Given the description of an element on the screen output the (x, y) to click on. 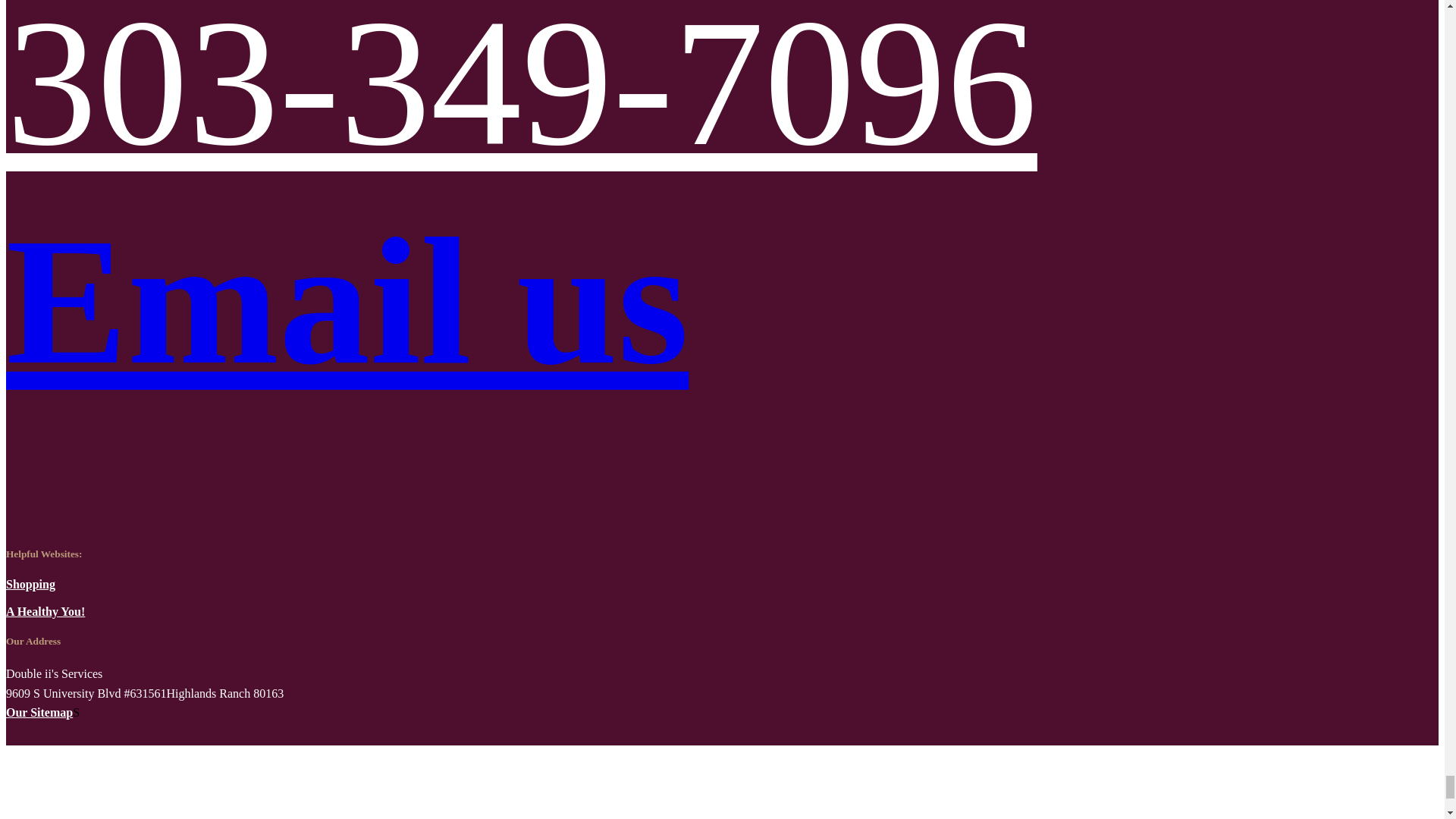
Shopping (30, 584)
Our Sitemap (38, 712)
A Healthy You! (44, 611)
